Given the description of an element on the screen output the (x, y) to click on. 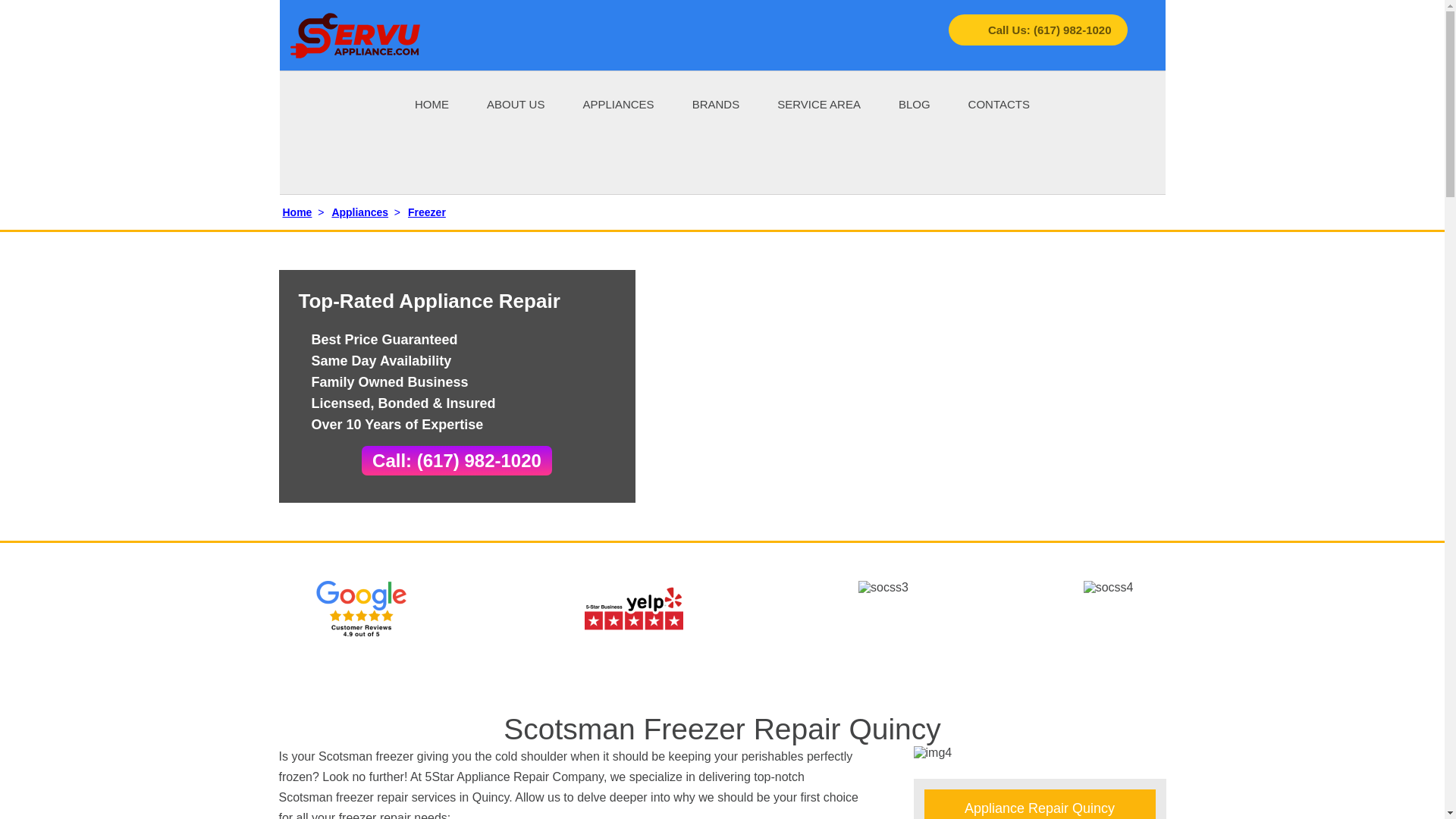
APPLIANCES (617, 103)
HOME (431, 103)
BRANDS (715, 103)
ABOUT US (515, 103)
